Given the description of an element on the screen output the (x, y) to click on. 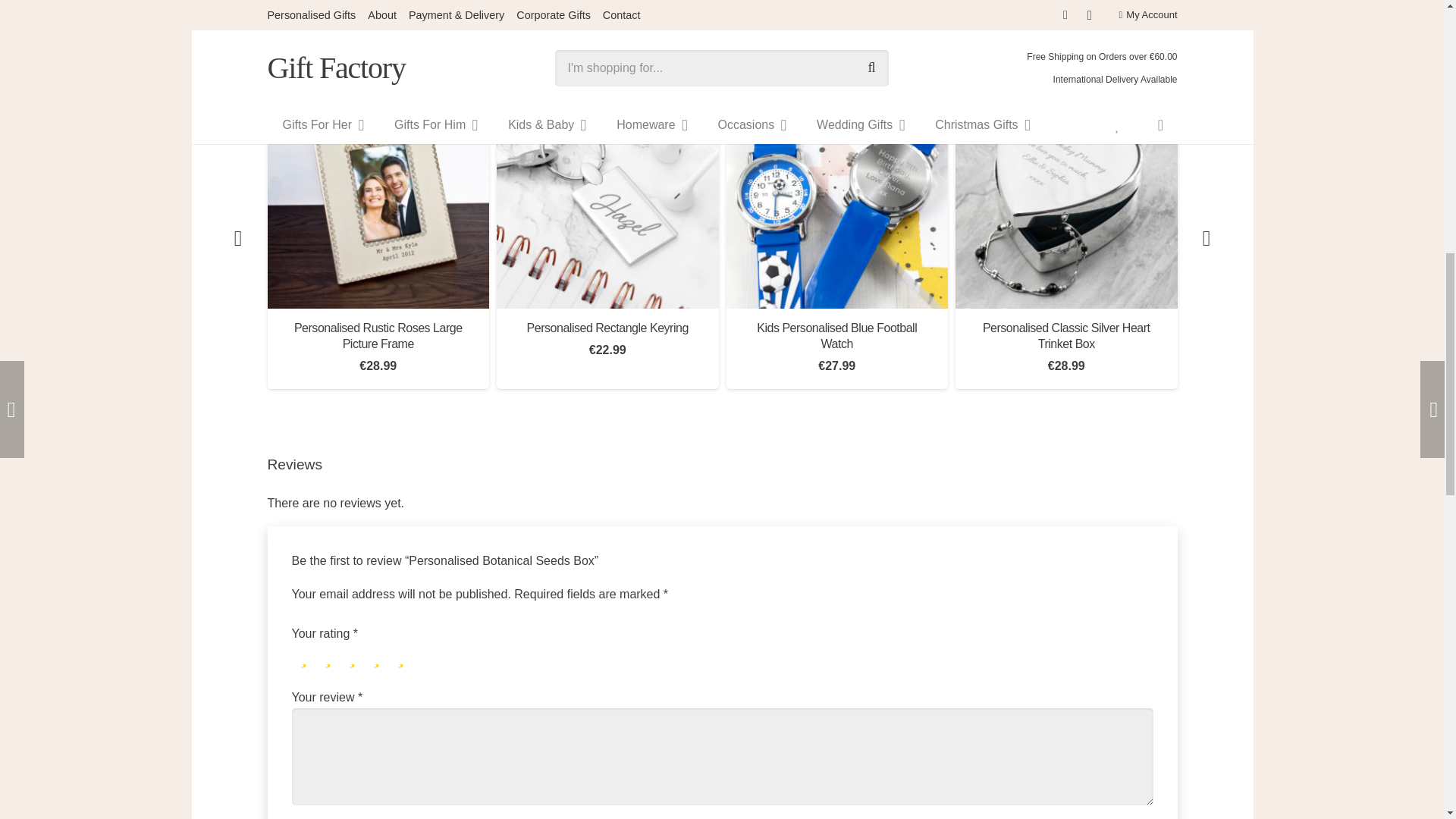
Personalised Rustic Roses Large Picture Frame (377, 197)
Contact (764, 0)
Personalised Rectangle Keyring (607, 197)
Personalised Classic Silver Heart Trinket Box (1066, 197)
Kids Personalised Blue Football Watch (837, 197)
